Given the description of an element on the screen output the (x, y) to click on. 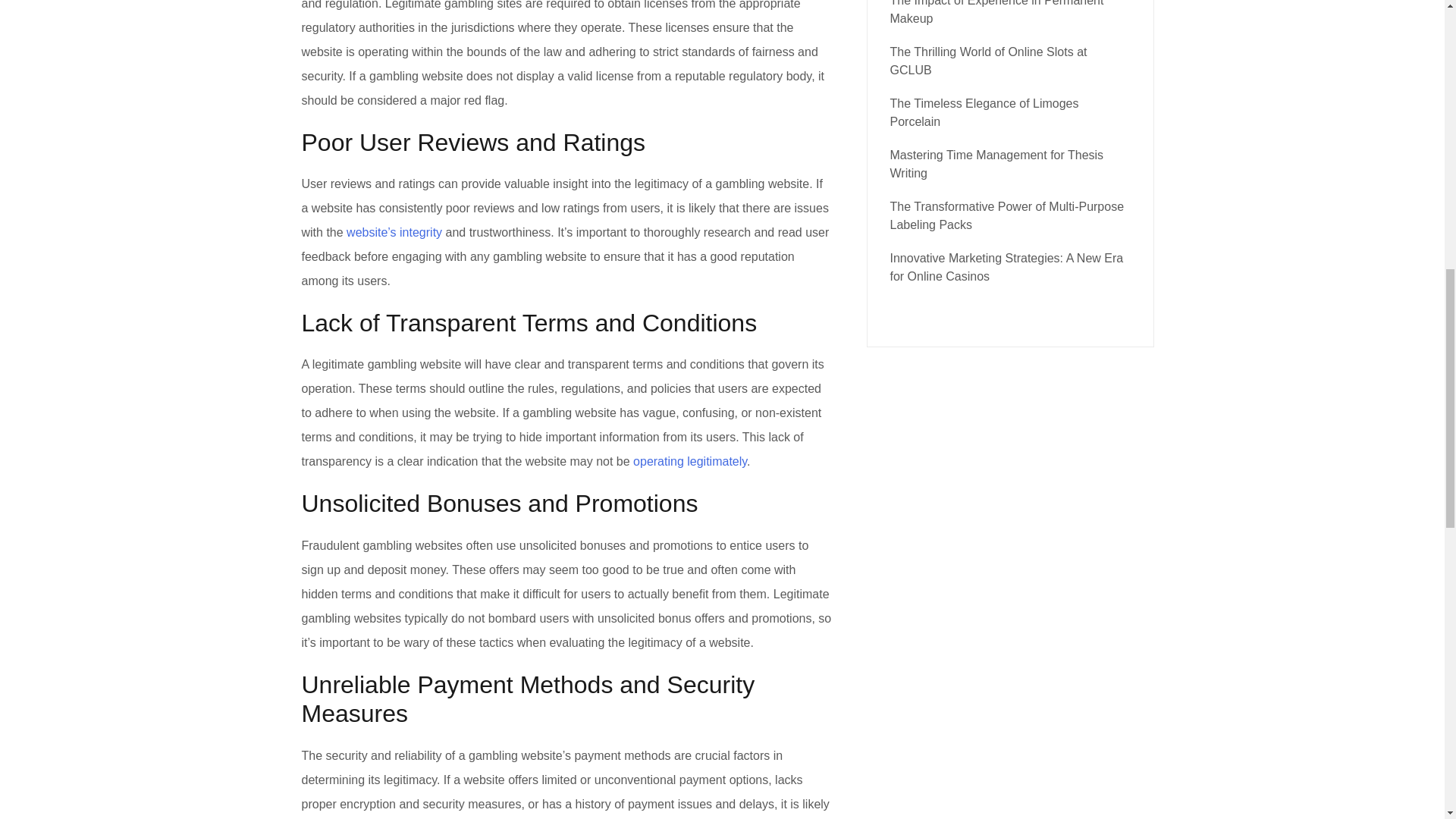
The Timeless Elegance of Limoges Porcelain (983, 112)
operating legitimately (689, 461)
The Transformative Power of Multi-Purpose Labeling Packs (1006, 214)
Mastering Time Management for Thesis Writing (996, 163)
The Thrilling World of Online Slots at GCLUB (988, 60)
The Impact of Experience in Permanent Makeup (996, 12)
